Given the description of an element on the screen output the (x, y) to click on. 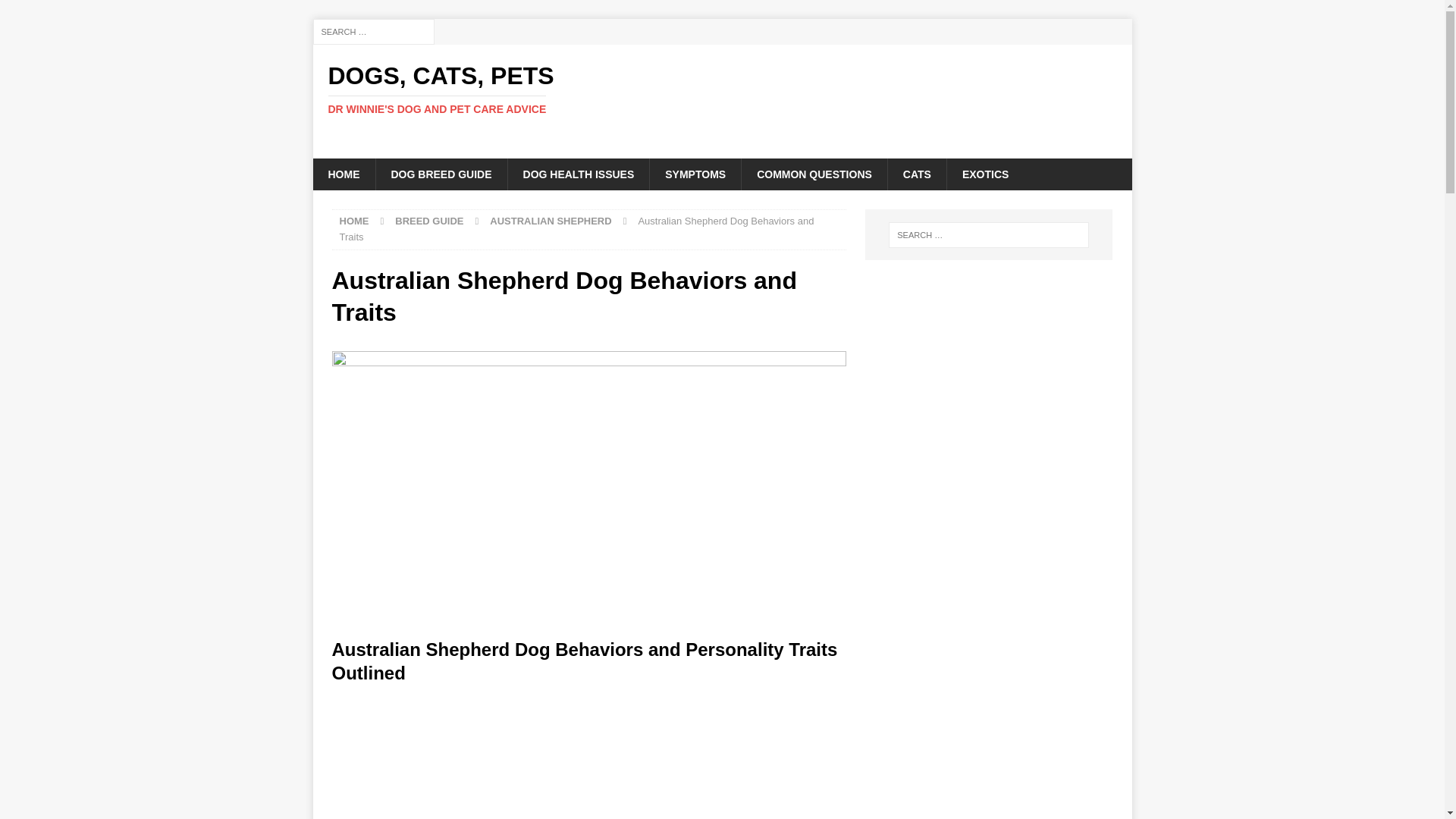
BREED GUIDE (428, 220)
DOG BREED GUIDE (440, 174)
Search (56, 11)
EXOTICS (984, 174)
SYMPTOMS (695, 174)
DOG HEALTH ISSUES (577, 174)
CATS (916, 174)
Dogs, Cats, Pets (441, 89)
australian-shepherd-dog-behaviors (441, 89)
